Given the description of an element on the screen output the (x, y) to click on. 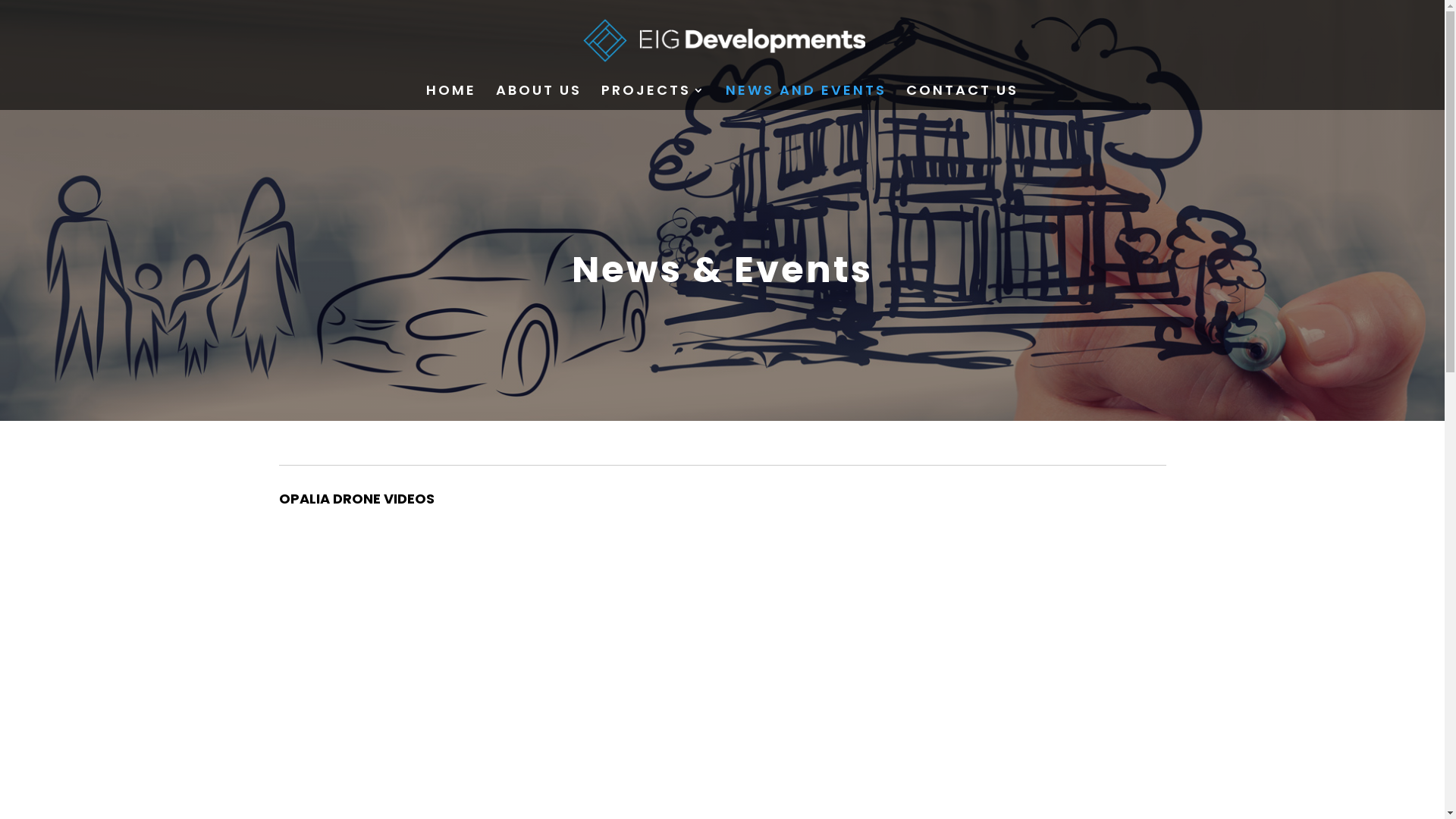
ABOUT US Element type: text (538, 96)
Opalia Construction Update November 2021 Element type: hover (371, 585)
NEWS AND EVENTS Element type: text (805, 96)
Opalia Construction Update October 2020 Element type: hover (1072, 585)
PROJECTS Element type: text (653, 96)
Opalia Construction Update 22 October 2019 Element type: hover (371, 713)
Opalia Construction Update March 2020 Element type: hover (604, 585)
HOME Element type: text (451, 96)
Opalia Shopping Centre - Construction Timeline Element type: hover (838, 585)
Opalia Construction Update 22 October 2019 Element type: hover (1072, 713)
Opalia Construction Update June 2020 Element type: hover (604, 713)
CONTACT US Element type: text (962, 96)
Opalia Plaza Woolworths Opening Ceremony on 27th Nov 2020 Element type: hover (838, 713)
